Given the description of an element on the screen output the (x, y) to click on. 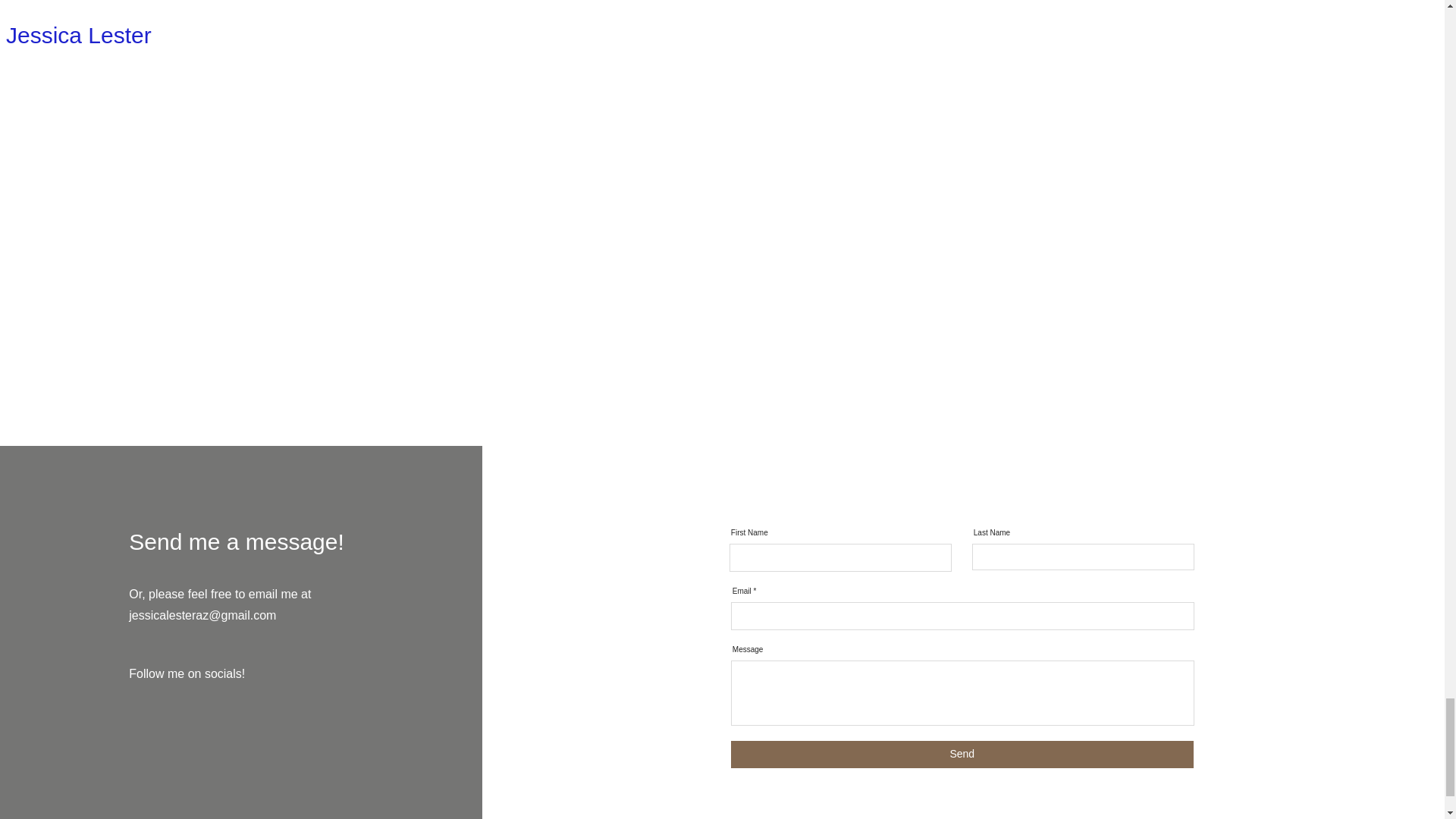
Send (961, 754)
